Given the description of an element on the screen output the (x, y) to click on. 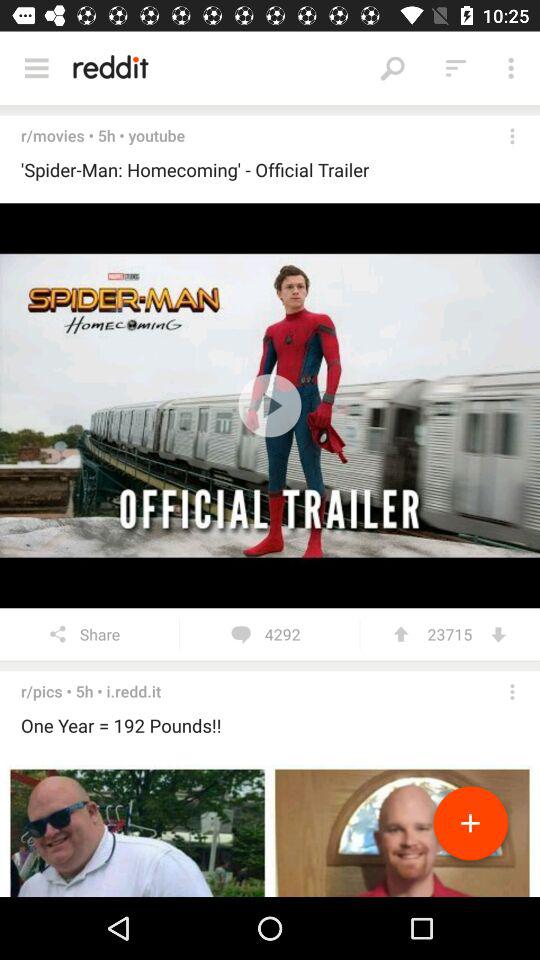
image view button (270, 828)
